Given the description of an element on the screen output the (x, y) to click on. 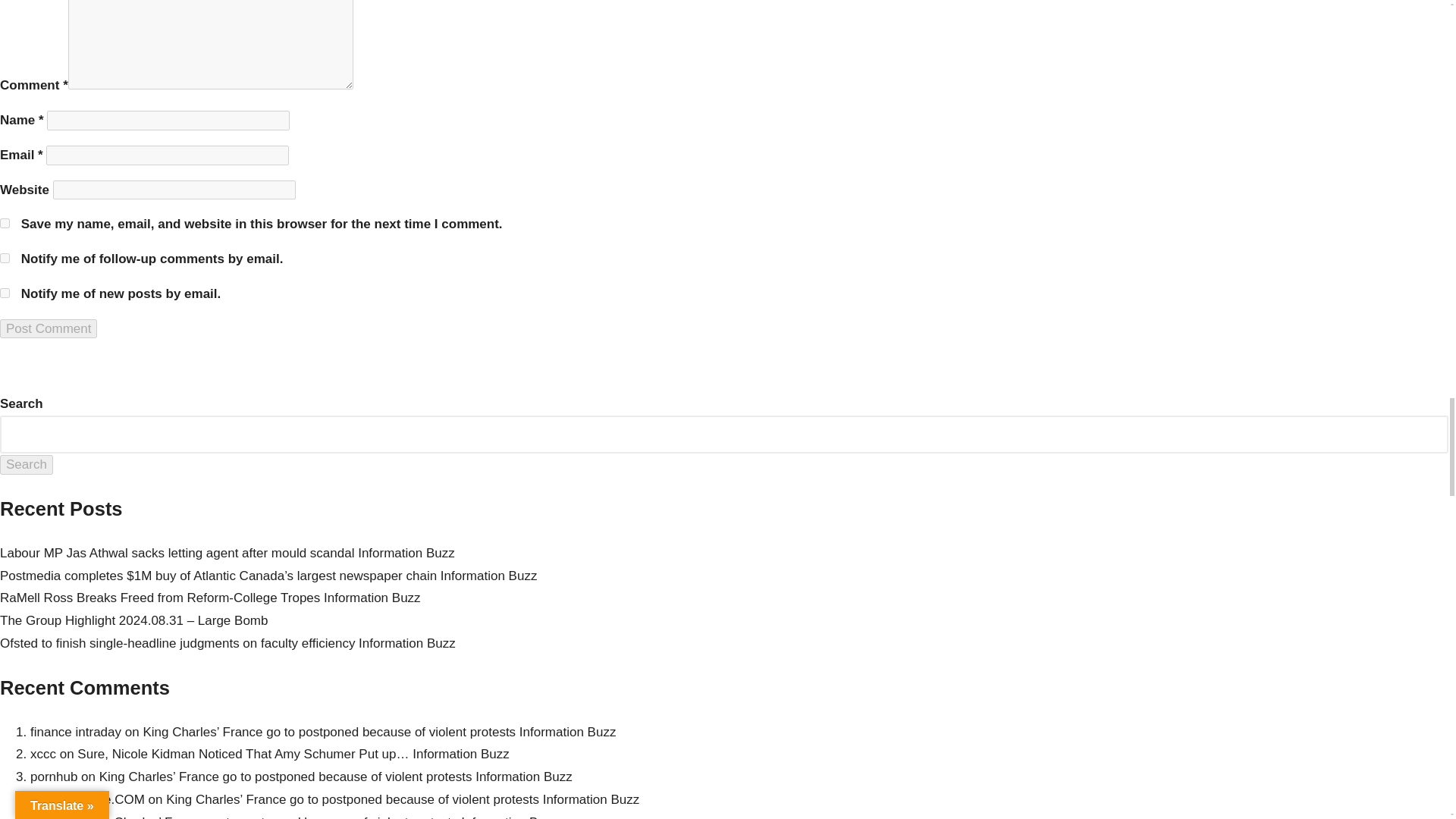
Post Comment (48, 329)
subscribe (5, 293)
yes (5, 223)
Search (26, 465)
xccc (43, 753)
pornhub (53, 776)
Post Comment (48, 329)
